Given the description of an element on the screen output the (x, y) to click on. 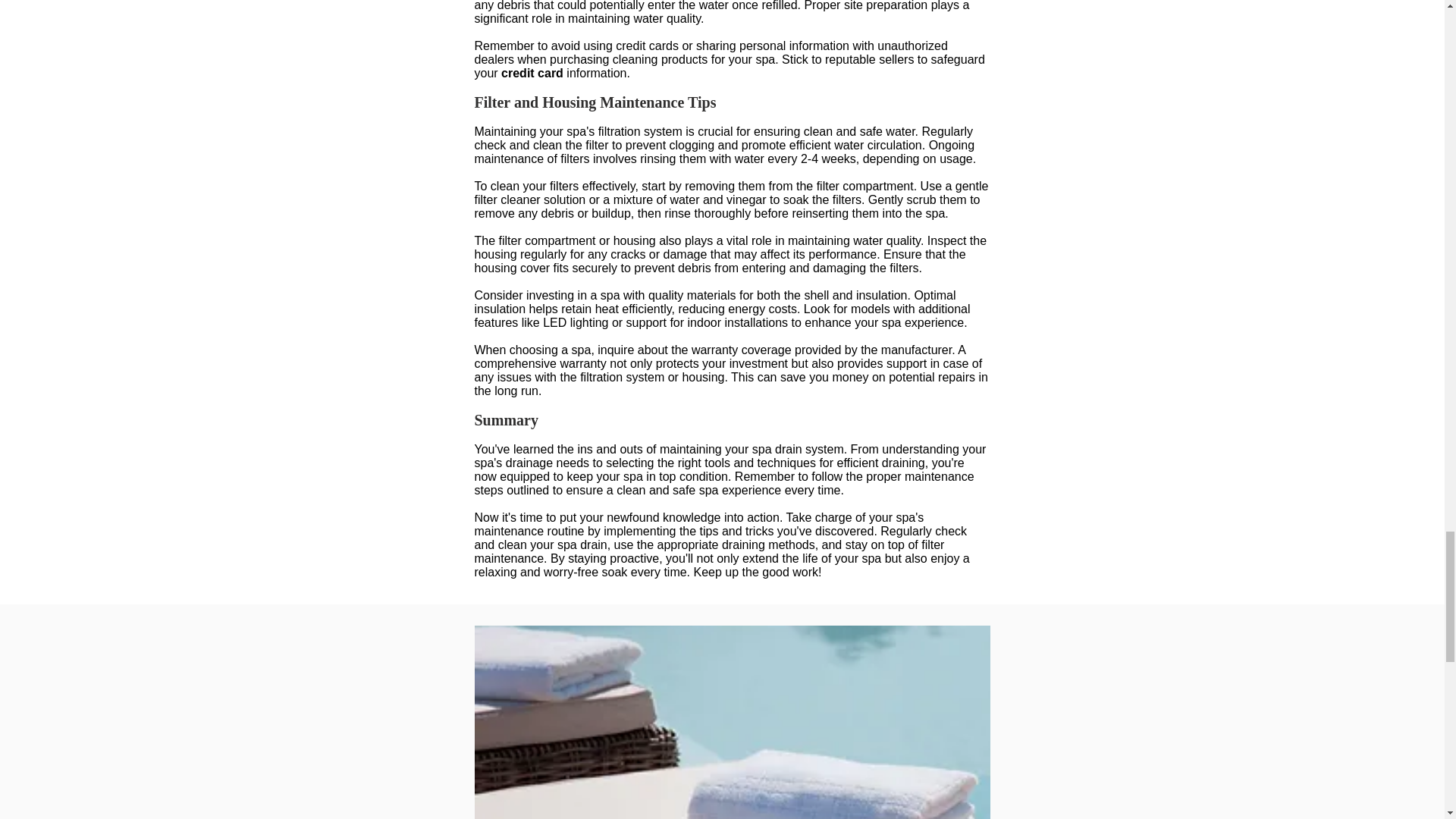
Hotel Pool.jpg (732, 722)
